Given the description of an element on the screen output the (x, y) to click on. 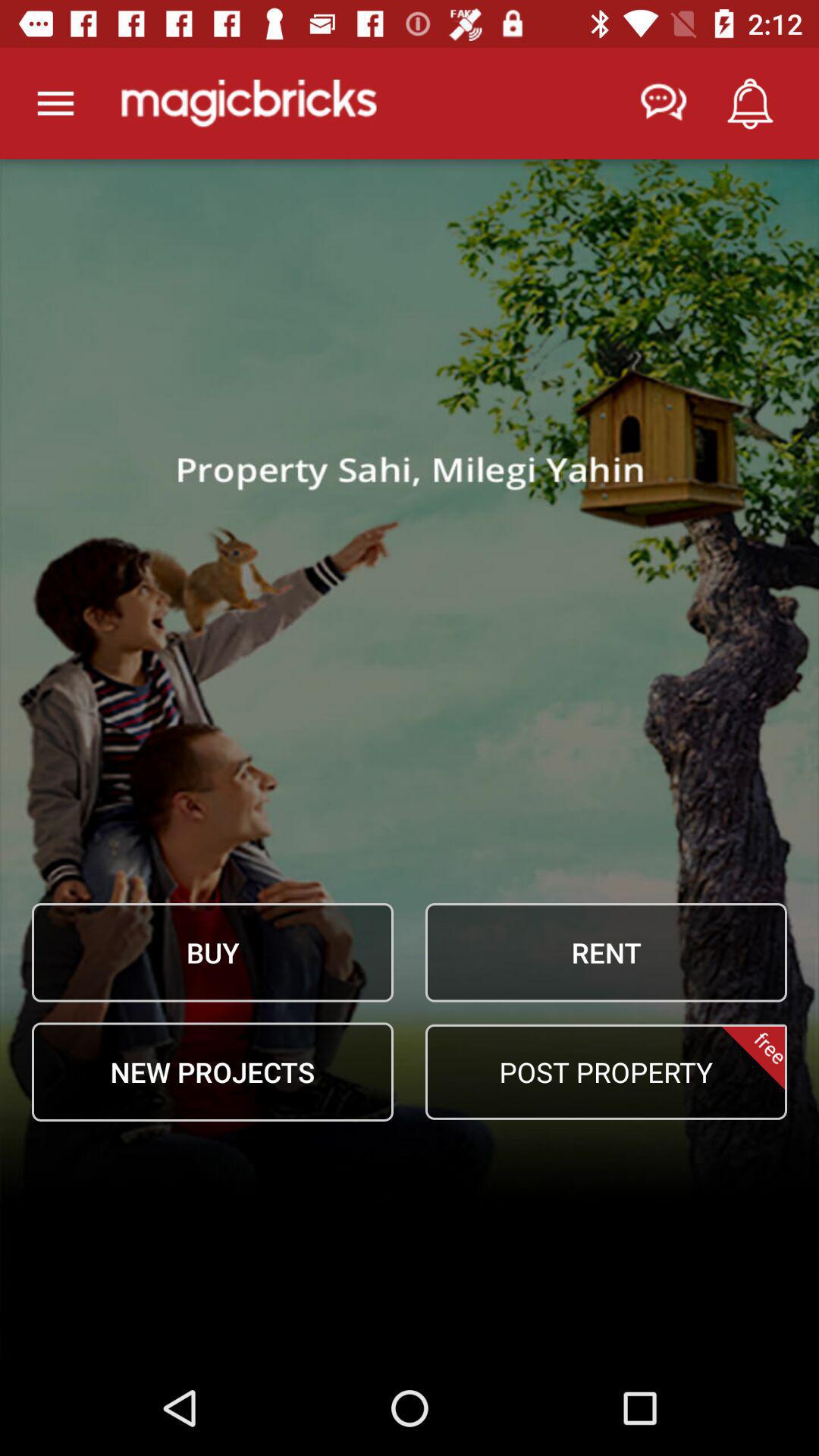
select the item on the left (212, 952)
